Given the description of an element on the screen output the (x, y) to click on. 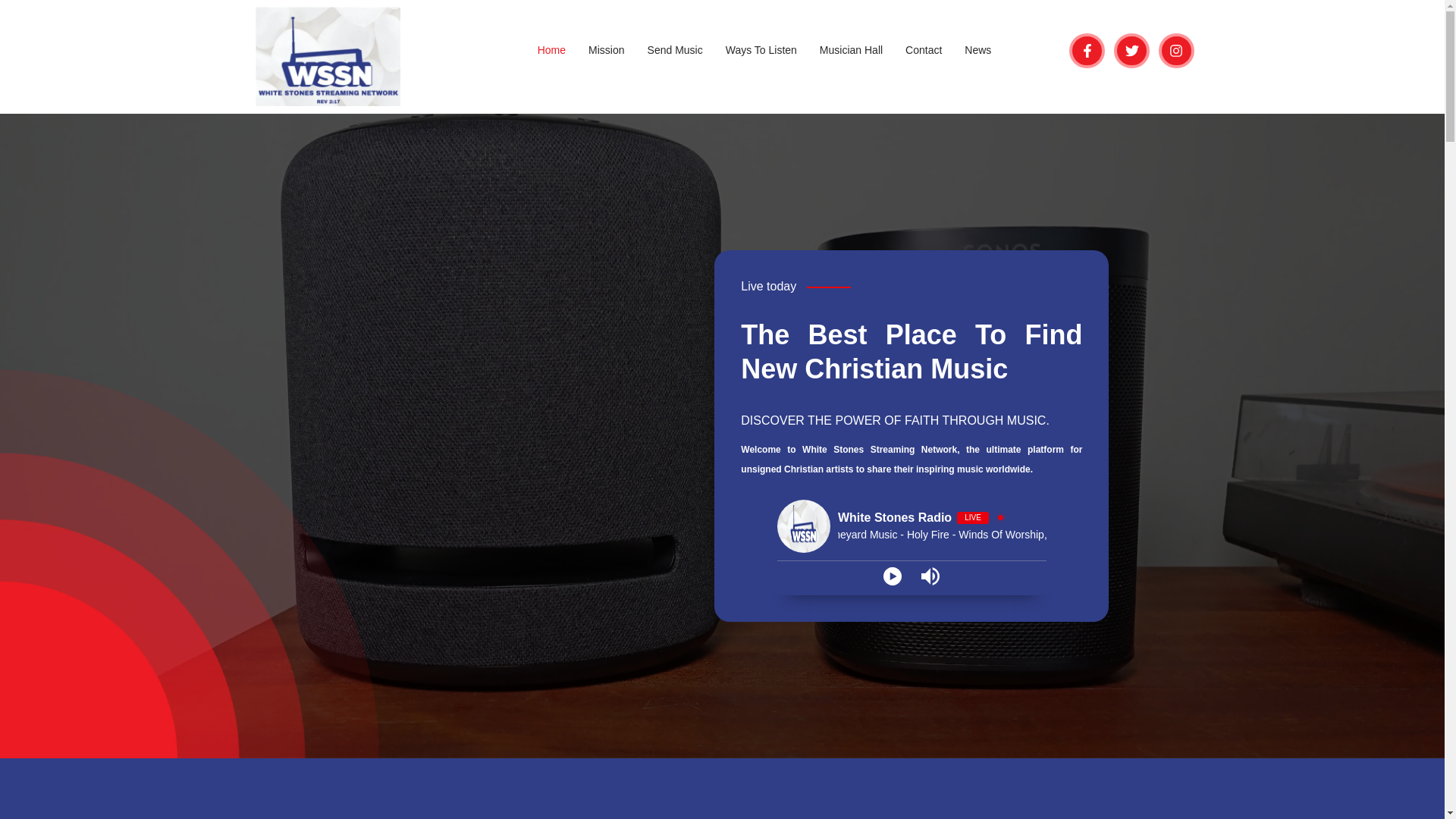
Home (550, 50)
News (978, 50)
Send Music (675, 50)
Play (892, 576)
Musician Hall (850, 50)
Mission (605, 50)
Contact (923, 50)
Ways To Listen (761, 50)
